Given the description of an element on the screen output the (x, y) to click on. 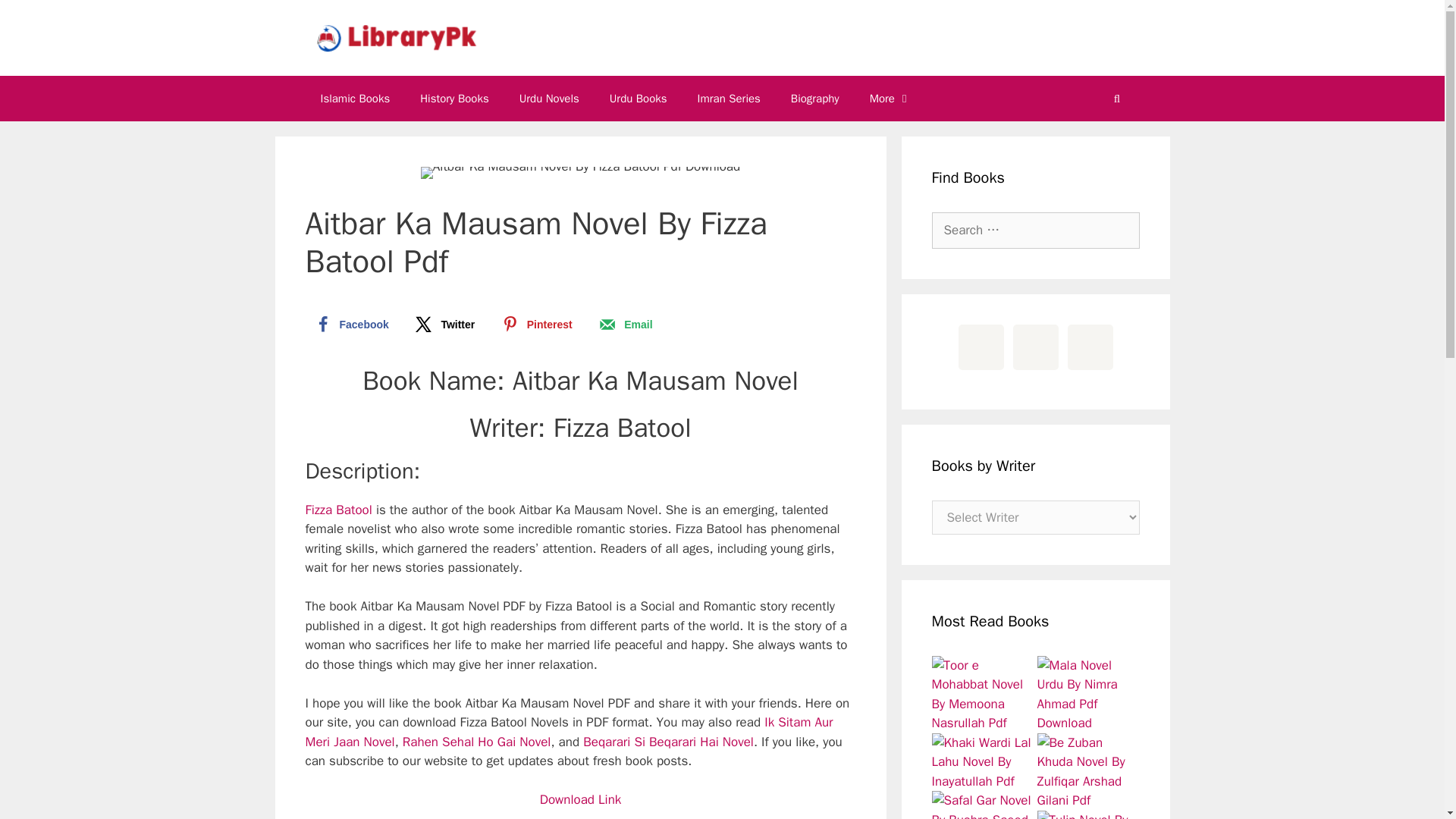
Share on X (443, 324)
Ik Sitam Aur Meri Jaan Novel (568, 732)
Pinterest (536, 324)
Be Zuban Khuda Novel By Zulfiqar Arshad Gilani Pdf (1088, 770)
Download Link (580, 799)
Send over email (624, 324)
Toor e Mohabbat Novel By Memoona Nasrullah Pdf (982, 693)
Safal Gar Novel By Bushra Saeed Pdf Free Download (982, 805)
Mala Novel Urdu By Nimra Ahmad Pdf Download (1088, 693)
Khaki Wardi Lal Lahu Novel By Inayatullah Pdf (982, 761)
Rahen Sehal Ho Gai Novel (477, 741)
Facebook (349, 324)
Beqarari Si Beqarari Hai Novel (668, 741)
Islamic Books (354, 98)
History Books (453, 98)
